Given the description of an element on the screen output the (x, y) to click on. 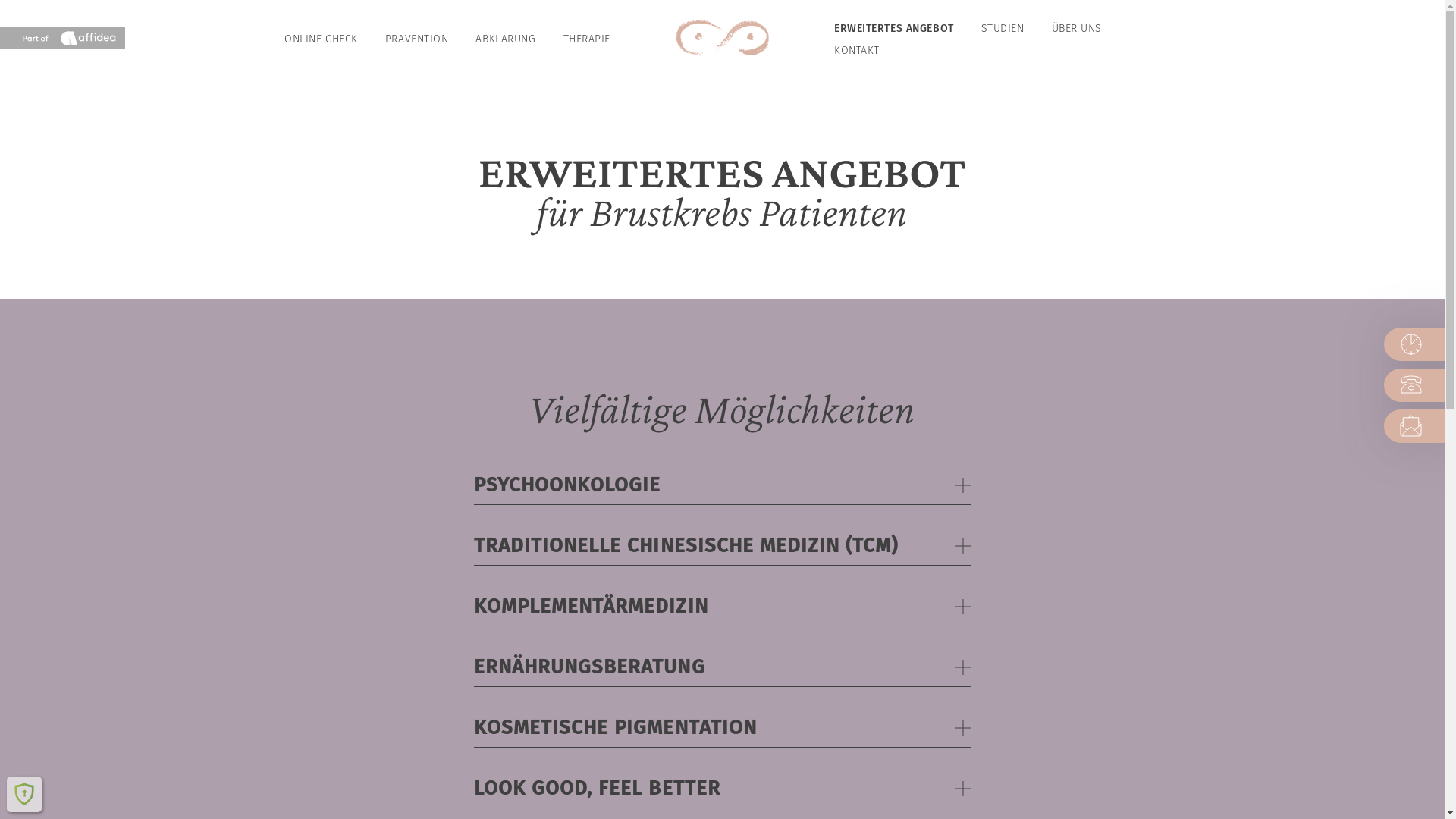
PSYCHOONKOLOGIE Element type: text (721, 485)
KONTAKT Element type: text (856, 49)
KOSMETISCHE PIGMENTATION Element type: text (721, 727)
ONLINE CHECK Element type: text (320, 39)
Shield Security Element type: hover (24, 793)
STUDIEN Element type: text (1002, 28)
LOOK GOOD, FEEL BETTER Element type: text (721, 788)
THERAPIE Element type: text (586, 39)
ERWEITERTES ANGEBOT Element type: text (893, 28)
TRADITIONELLE CHINESISCHE MEDIZIN (TCM) Element type: text (721, 545)
